Given the description of an element on the screen output the (x, y) to click on. 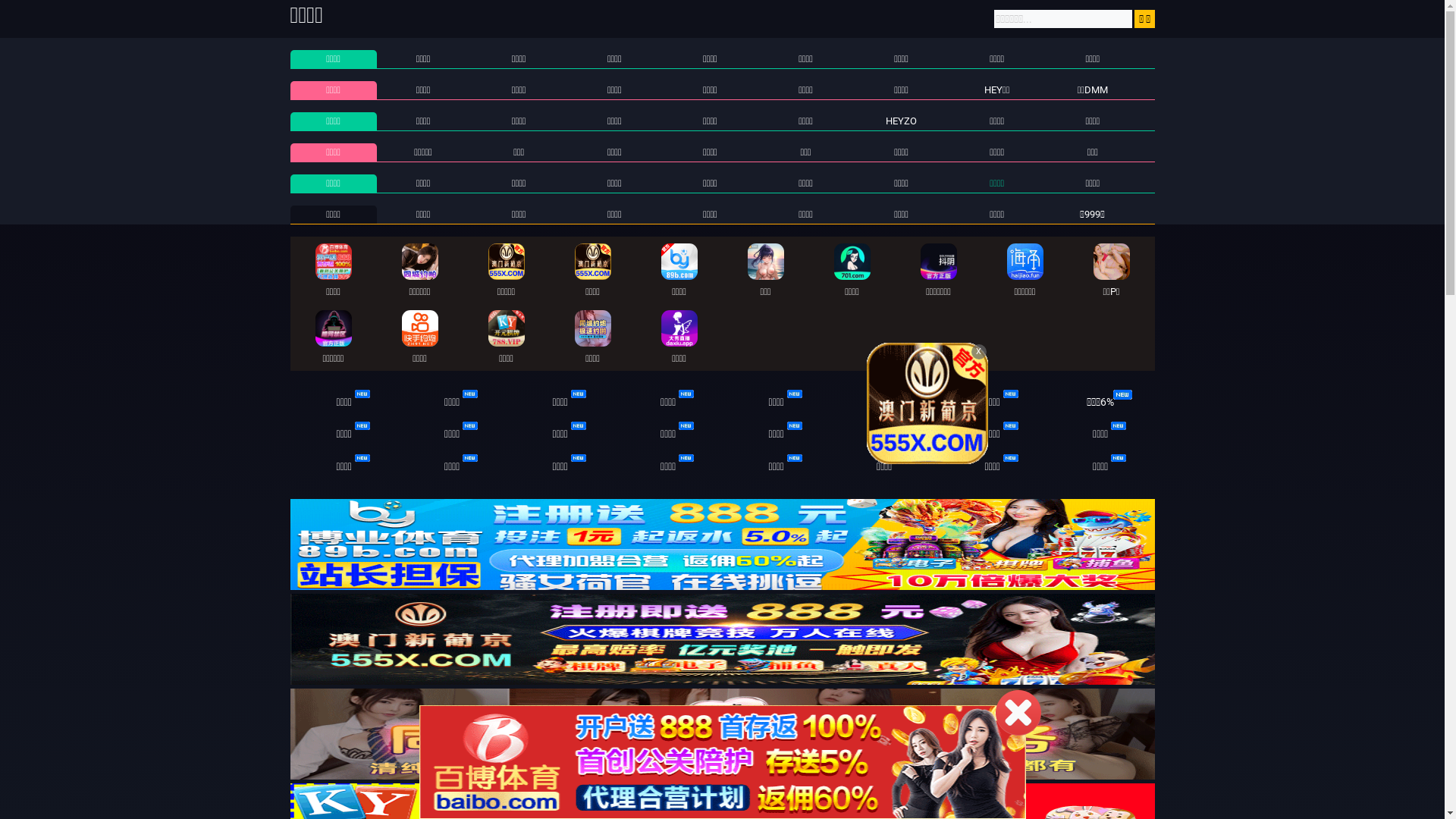
HEYZO Element type: text (900, 120)
